Given the description of an element on the screen output the (x, y) to click on. 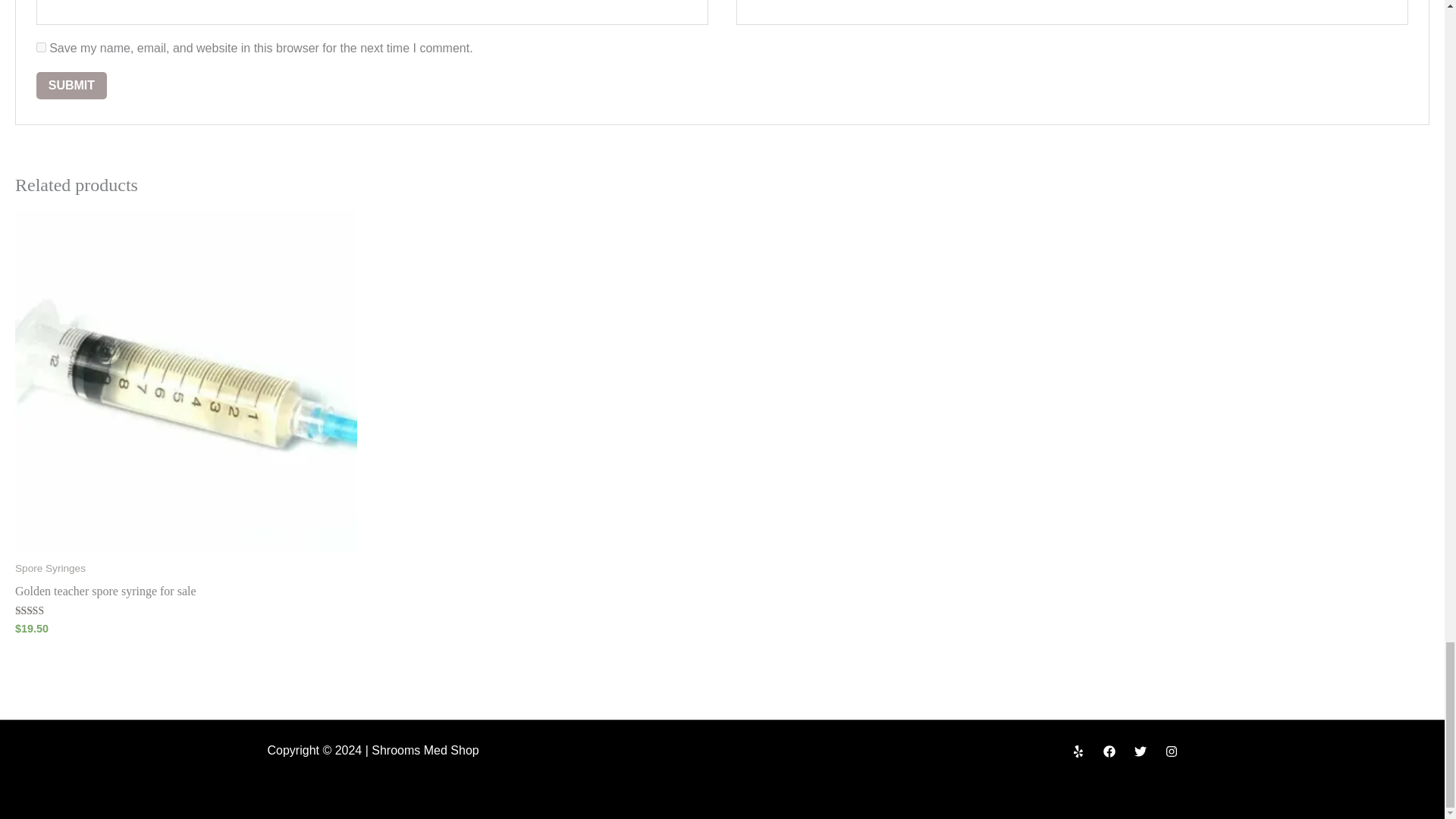
yes (41, 47)
Submit (71, 85)
